Given the description of an element on the screen output the (x, y) to click on. 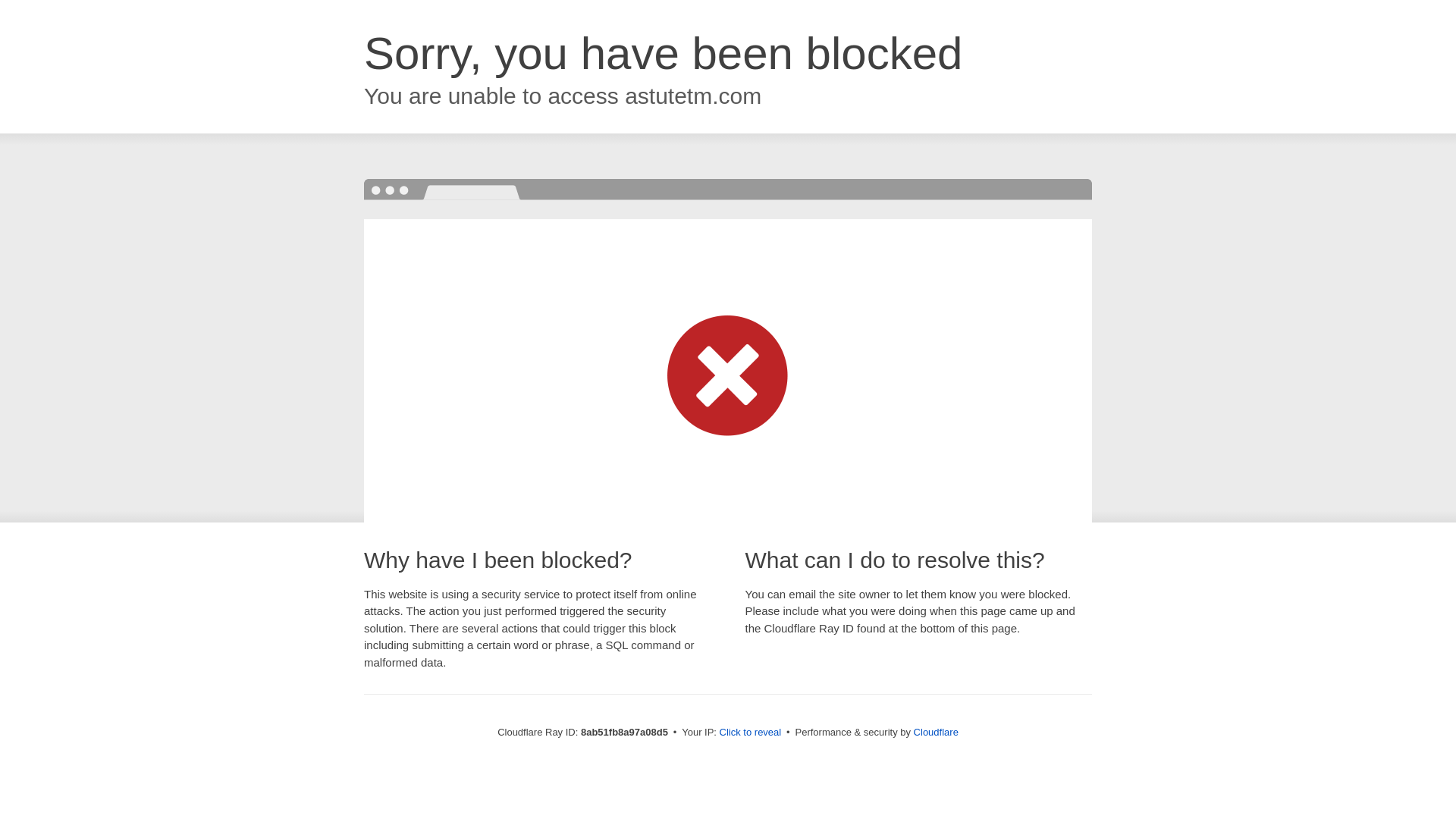
Cloudflare (936, 731)
Click to reveal (750, 732)
